Given the description of an element on the screen output the (x, y) to click on. 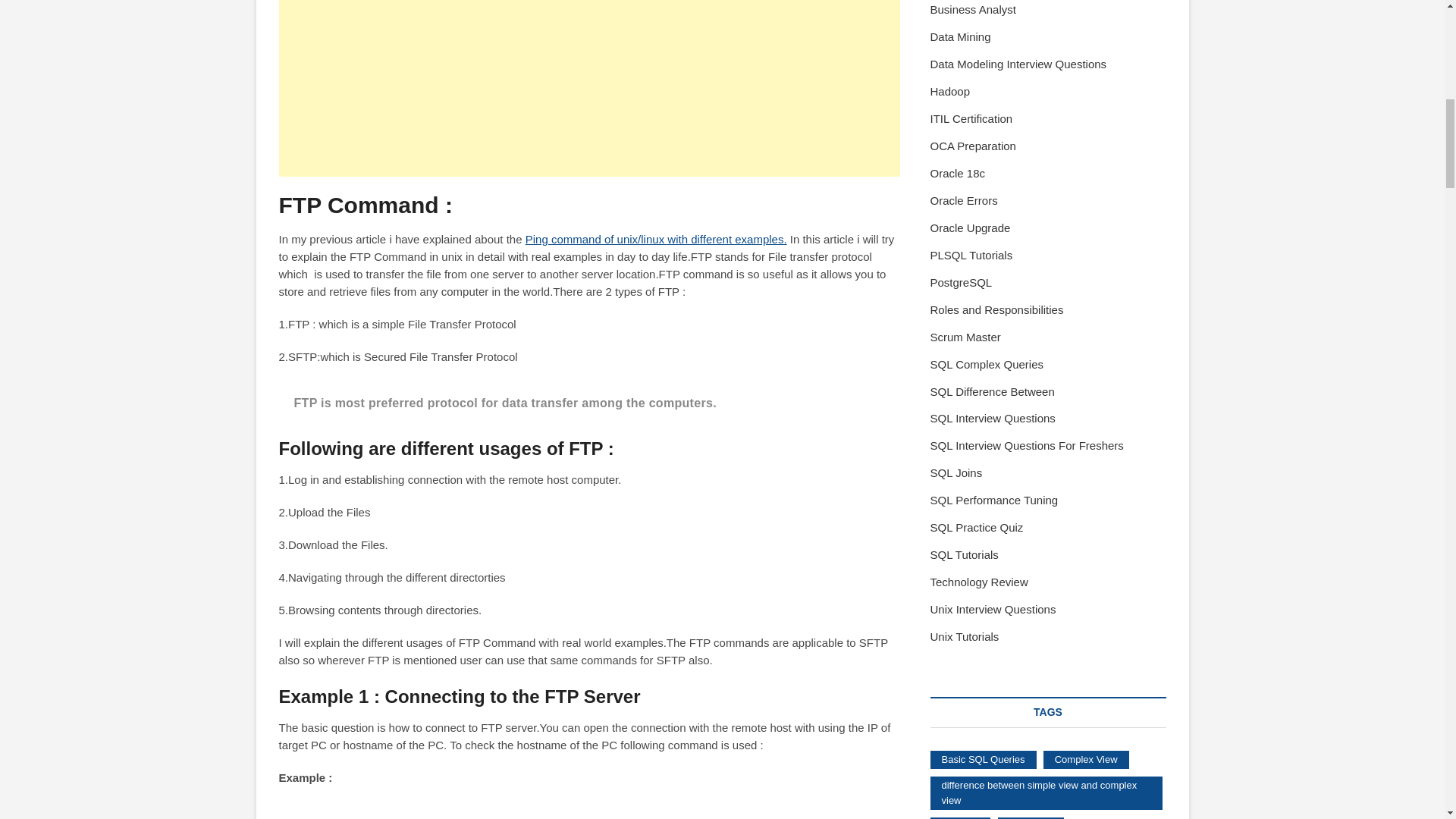
Data Modeling Interview Questions (1018, 63)
Business Analyst (972, 9)
Hadoop (949, 91)
Data Mining (960, 36)
Advertisement (589, 88)
